Given the description of an element on the screen output the (x, y) to click on. 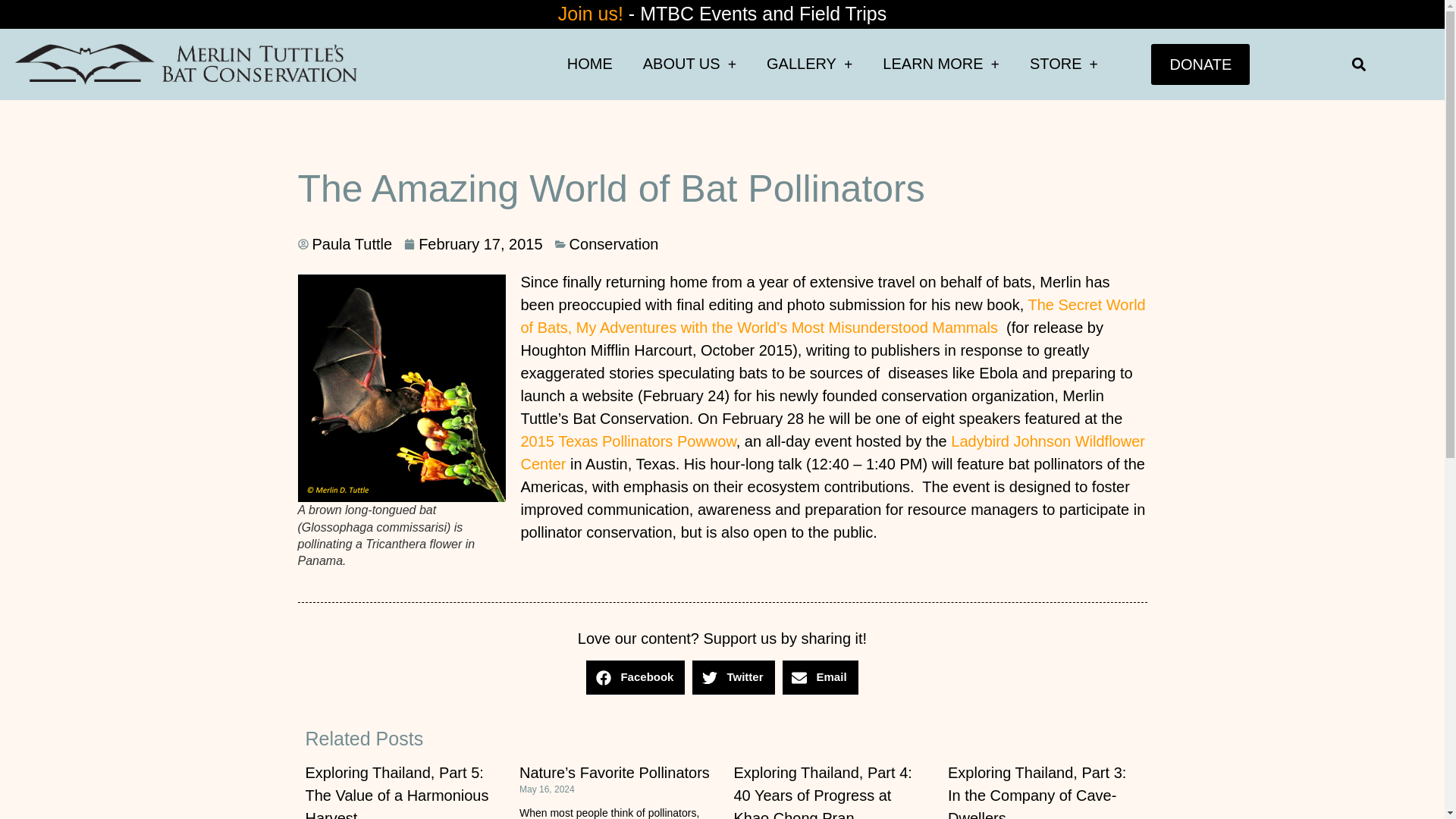
GALLERY (809, 63)
Join us! - MTBC Events and Field Trips (721, 13)
HOME (589, 63)
STORE (1063, 63)
ABOUT US (689, 63)
LEARN MORE (940, 63)
